Given the description of an element on the screen output the (x, y) to click on. 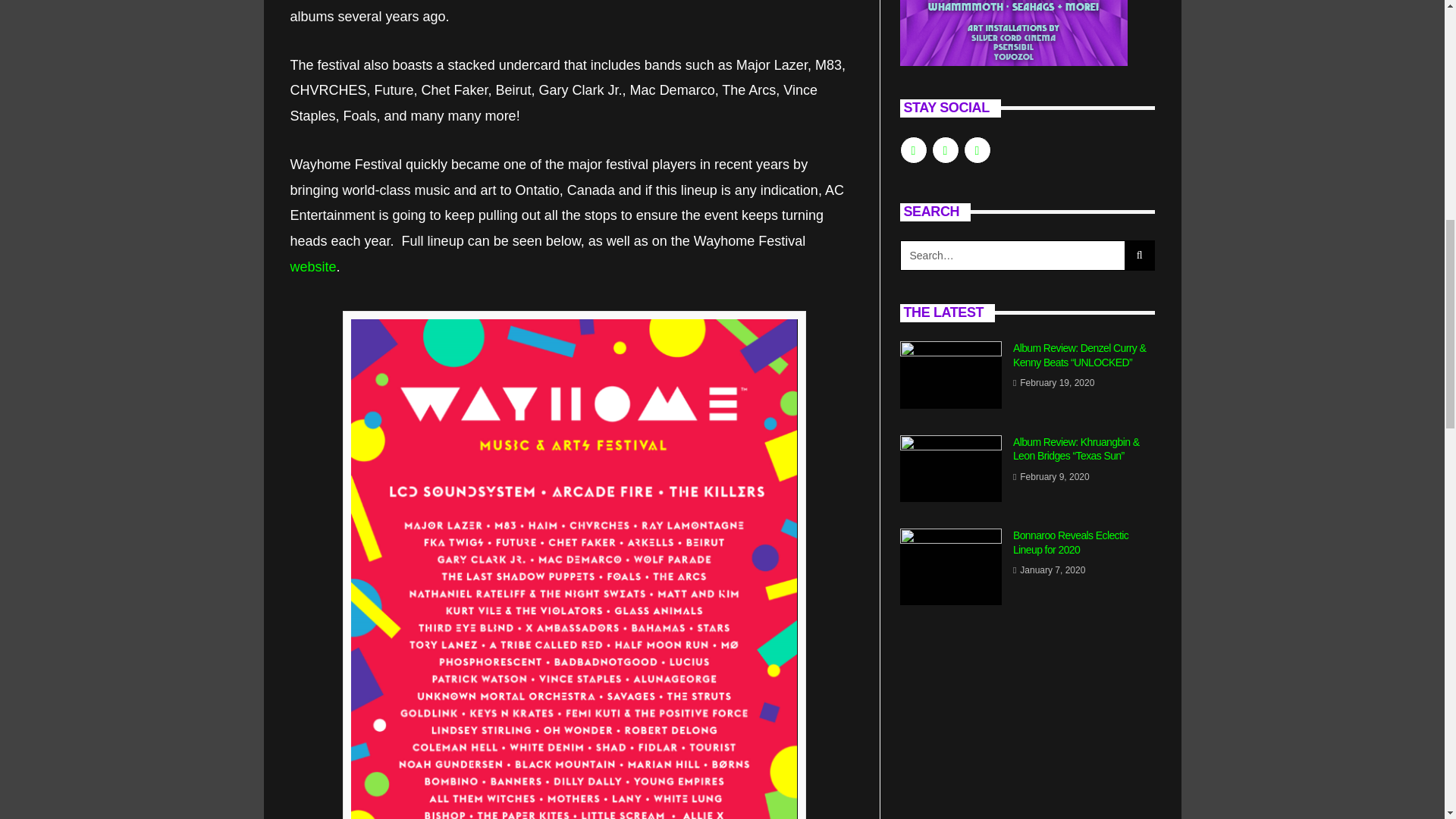
website (312, 266)
Search for: (1011, 255)
Bonnaroo Reveals Eclectic Lineup for 2020 (950, 566)
